Given the description of an element on the screen output the (x, y) to click on. 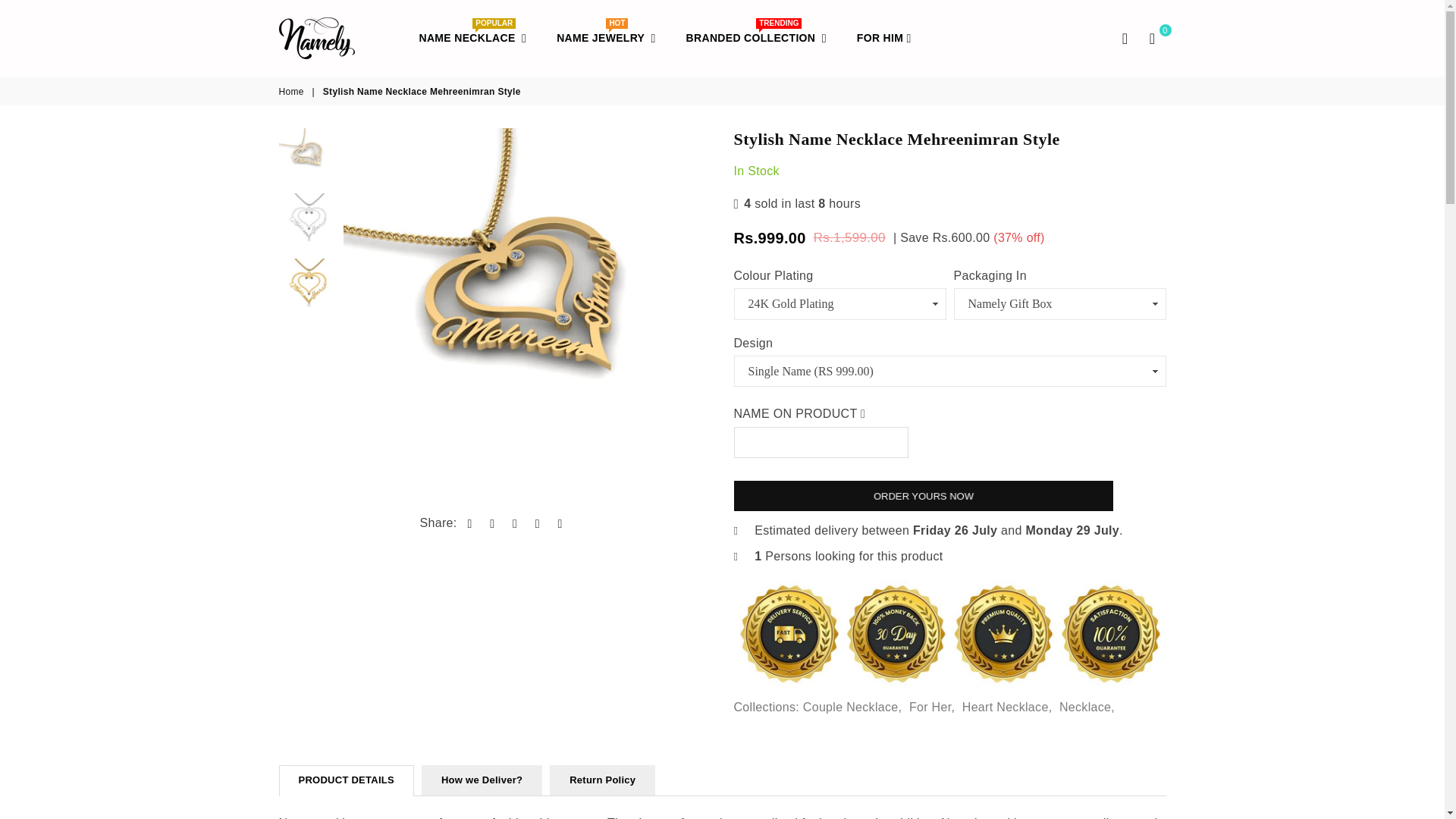
Share by Email (605, 37)
Share on Facebook (560, 523)
Cart (472, 37)
Pin on Pinterest (470, 523)
NAMELY (1152, 37)
Tweet on Twitter (515, 523)
Back to the home page (343, 37)
Share on Linked In (491, 523)
Search (292, 91)
